Given the description of an element on the screen output the (x, y) to click on. 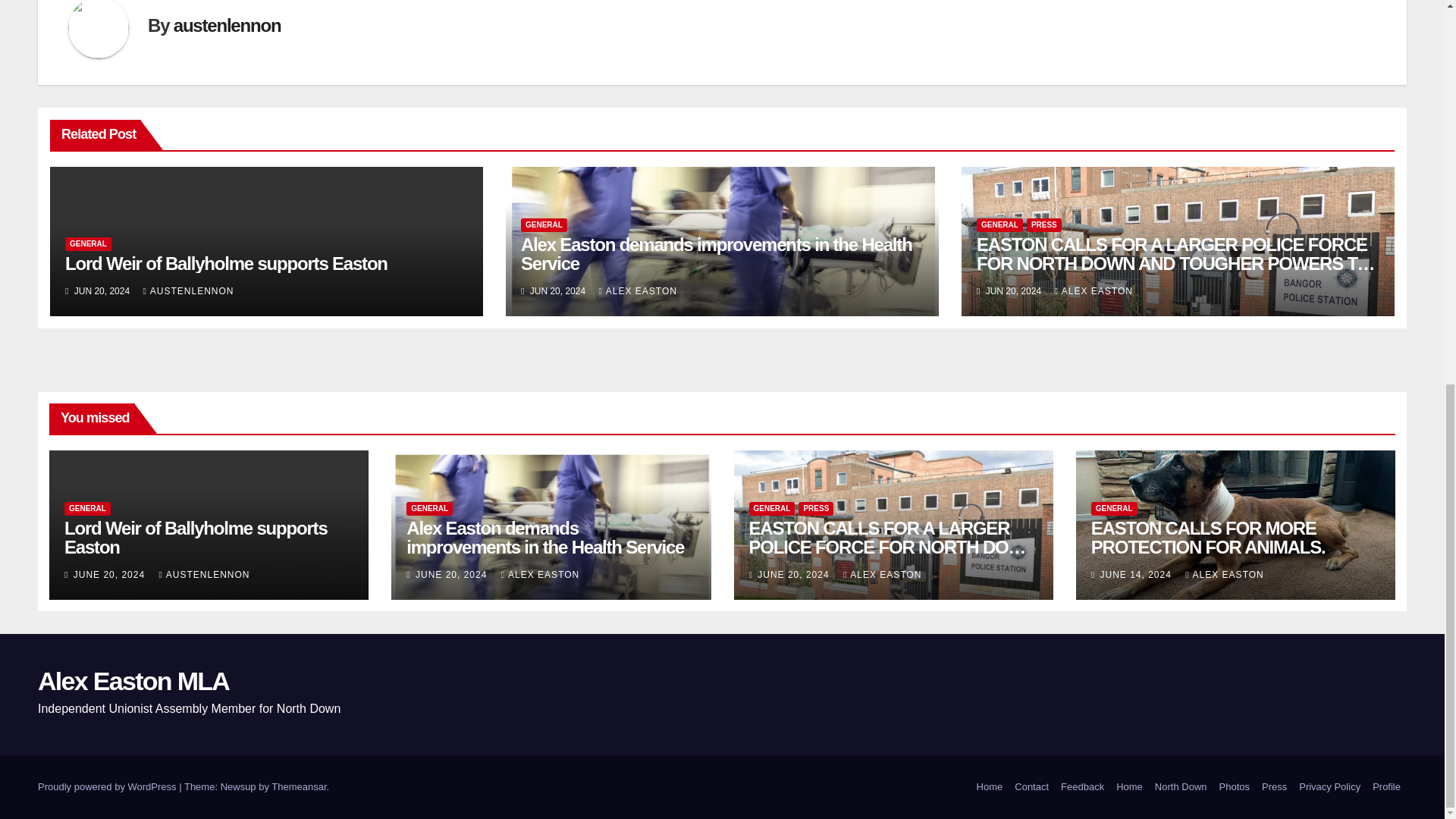
Lord Weir of Ballyholme supports Easton (226, 263)
Home (990, 786)
Permalink to: EASTON CALLS FOR MORE PROTECTION FOR ANIMALS. (1207, 537)
austenlennon (227, 25)
ALEX EASTON (637, 290)
GENERAL (88, 243)
Permalink to: Lord Weir of Ballyholme supports Easton (226, 263)
ALEX EASTON (1093, 290)
PRESS (1043, 224)
Alex Easton demands improvements in the Health Service (716, 253)
AUSTENLENNON (187, 290)
